Given the description of an element on the screen output the (x, y) to click on. 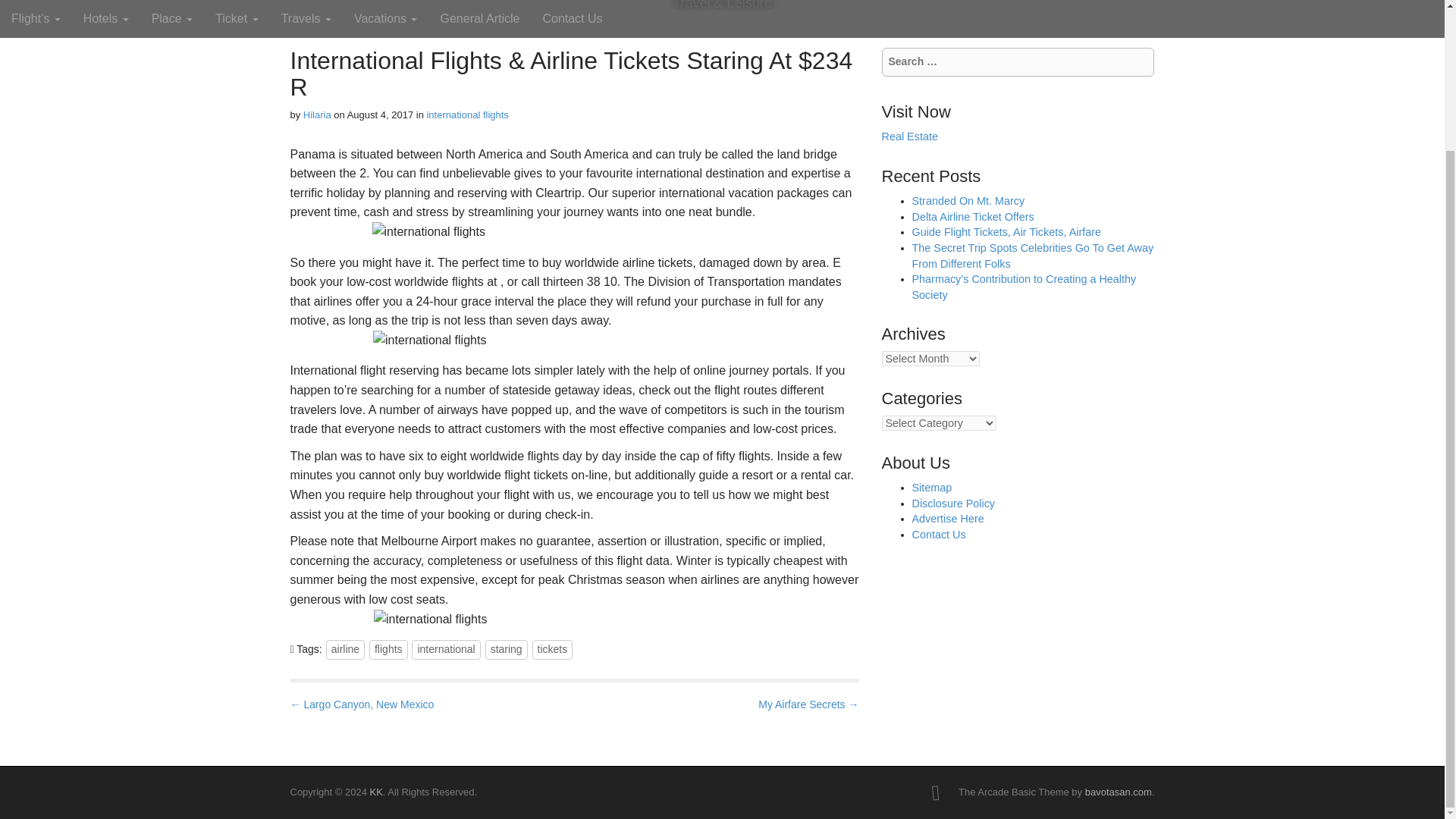
tickets (552, 649)
staring (505, 649)
Hilaria (316, 114)
airline (345, 649)
international flights (467, 114)
Posts by Hilaria (316, 114)
flights (388, 649)
August 4, 2017 (380, 114)
international (446, 649)
